Given the description of an element on the screen output the (x, y) to click on. 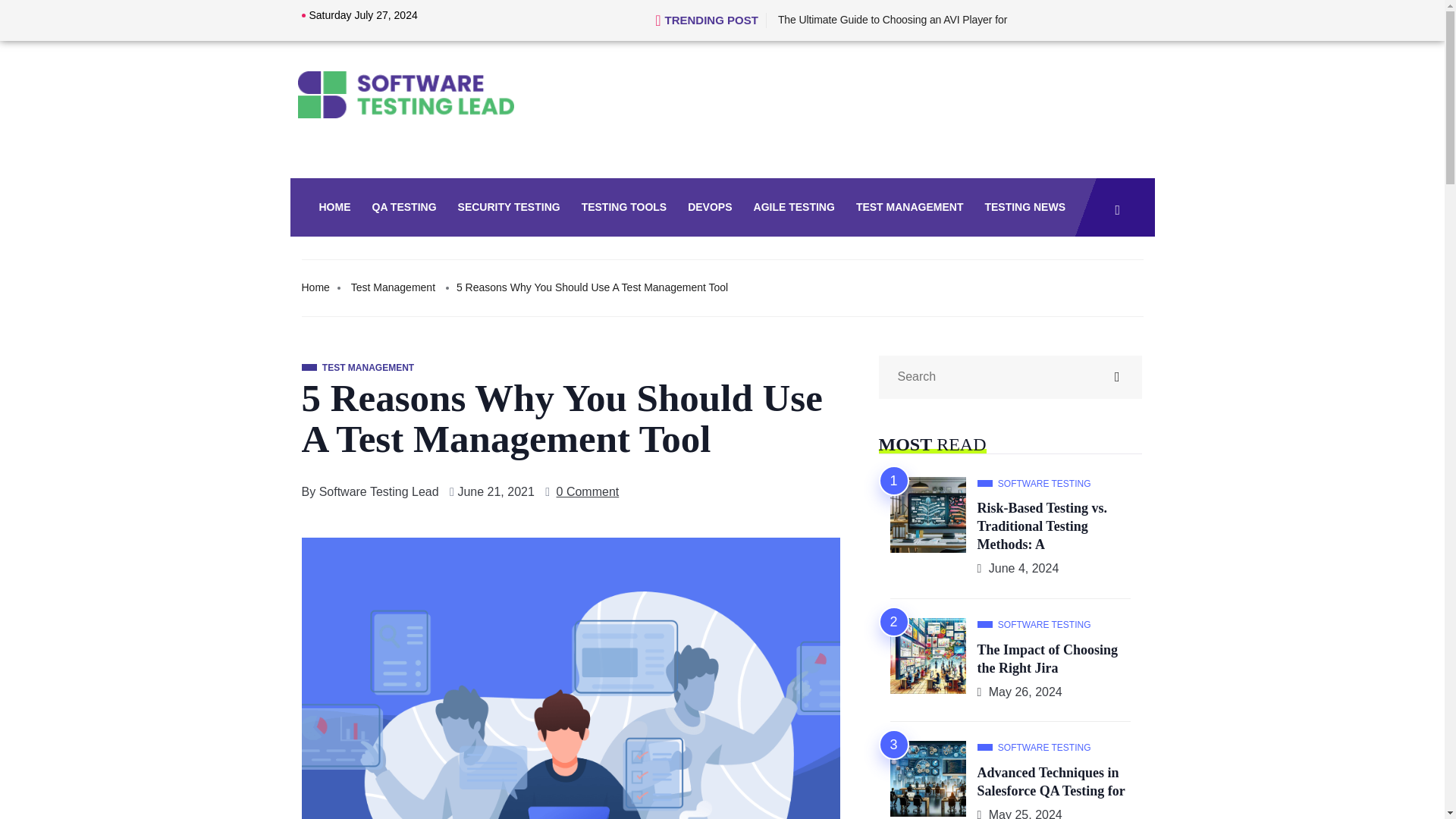
AGILE TESTING (792, 207)
Test Management (392, 287)
TESTING TOOLS (623, 207)
The Ultimate Guide to Choosing an AVI Player for Your Needs (892, 19)
QA TESTING (402, 207)
Home (315, 287)
HOME (332, 207)
The Ultimate Guide to Choosing an AVI Player for (892, 19)
DEVOPS (708, 207)
TEST MANAGEMENT (357, 367)
TEST MANAGEMENT (908, 207)
TESTING NEWS (1023, 207)
0 Comment (588, 492)
SECURITY TESTING (507, 207)
